Given the description of an element on the screen output the (x, y) to click on. 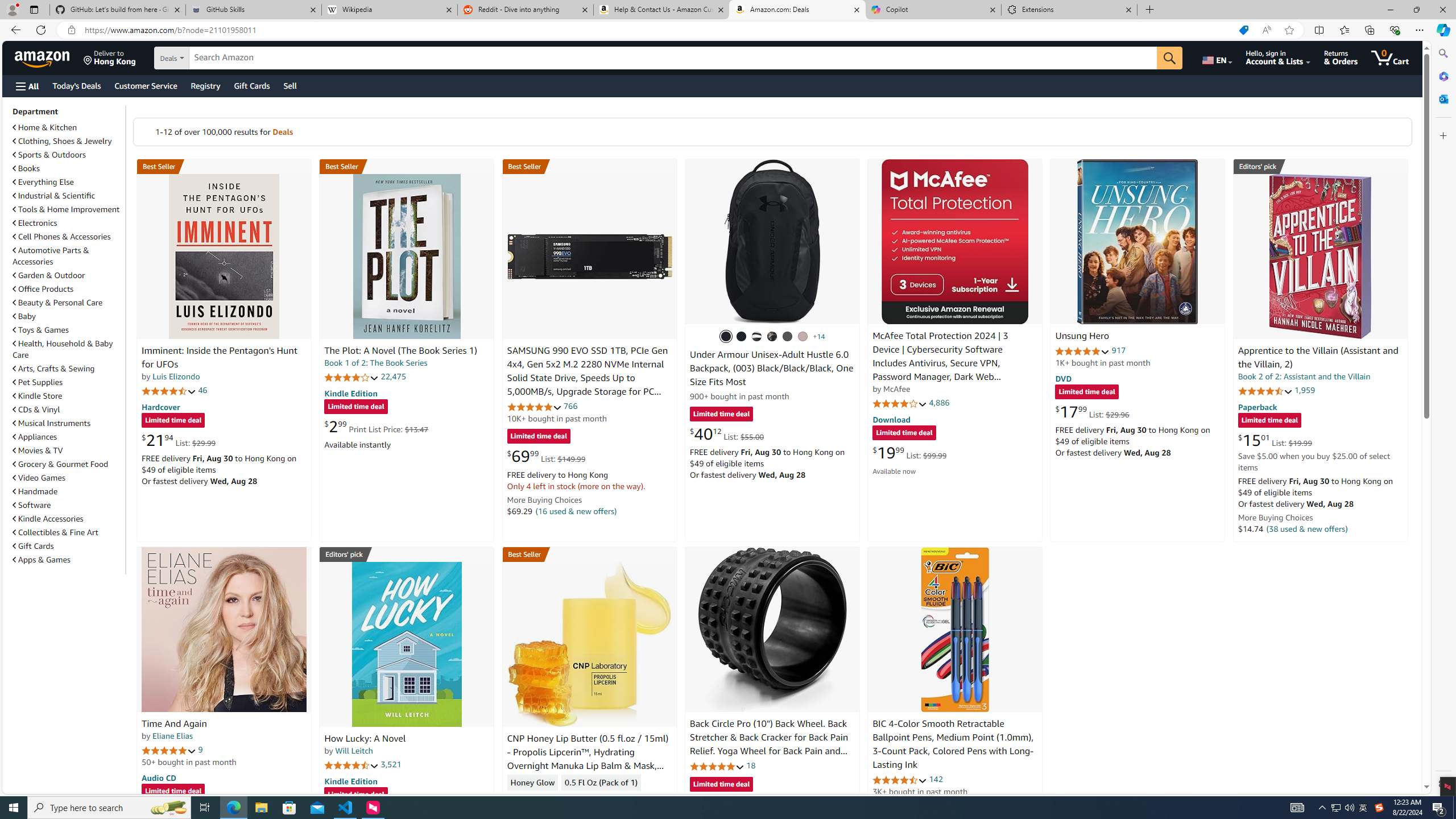
4.7 out of 5 stars (168, 390)
Apps & Games (41, 559)
Baby (67, 315)
4.8 out of 5 stars (716, 766)
917 (1117, 350)
Electronics (34, 222)
Limited time deal (721, 784)
Best Seller in Internal Solid State Drives (589, 165)
Will Leitch (353, 750)
Home & Kitchen (67, 127)
Books (26, 167)
(38 used & new offers) (1307, 528)
